Given the description of an element on the screen output the (x, y) to click on. 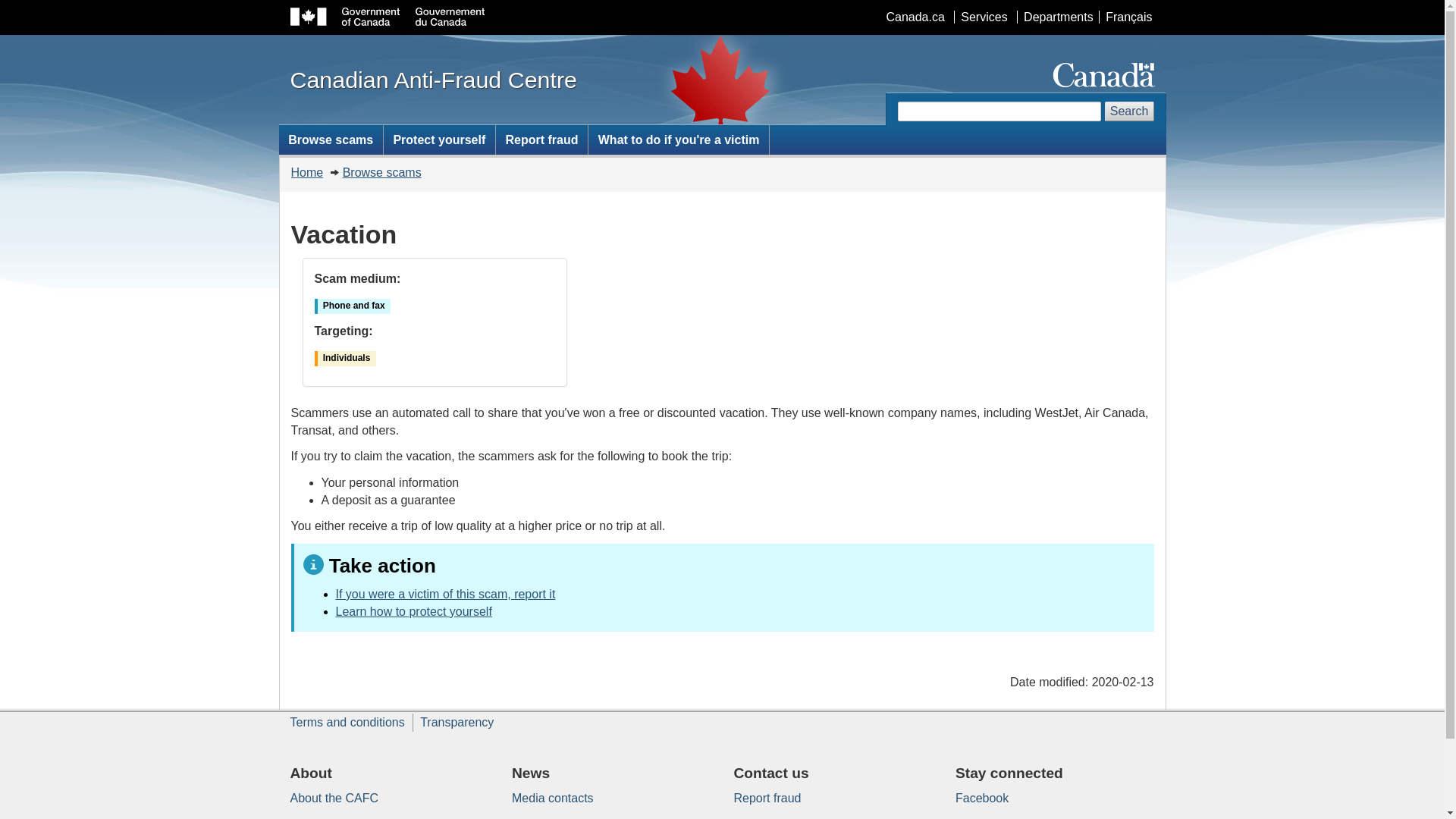
Report fraud Element type: text (541, 139)
What to do if you're a victim Element type: text (678, 139)
Facebook Element type: text (981, 797)
Services Element type: text (983, 16)
Search Element type: text (1129, 111)
Departments Element type: text (1057, 16)
Transparency Element type: text (456, 721)
Terms and conditions Element type: text (346, 721)
Skip to main content Element type: text (725, 11)
About the CAFC Element type: text (333, 797)
Media contacts Element type: text (552, 797)
Home Element type: text (307, 172)
Browse scams Element type: text (330, 139)
Browse scams Element type: text (381, 172)
Protect yourself Element type: text (439, 139)
Report fraud Element type: text (767, 797)
Learn how to protect yourself Element type: text (413, 611)
Canadian Anti-Fraud Centre Element type: text (432, 79)
If you were a victim of this scam, report it Element type: text (445, 593)
Canada.ca Element type: text (914, 16)
